Given the description of an element on the screen output the (x, y) to click on. 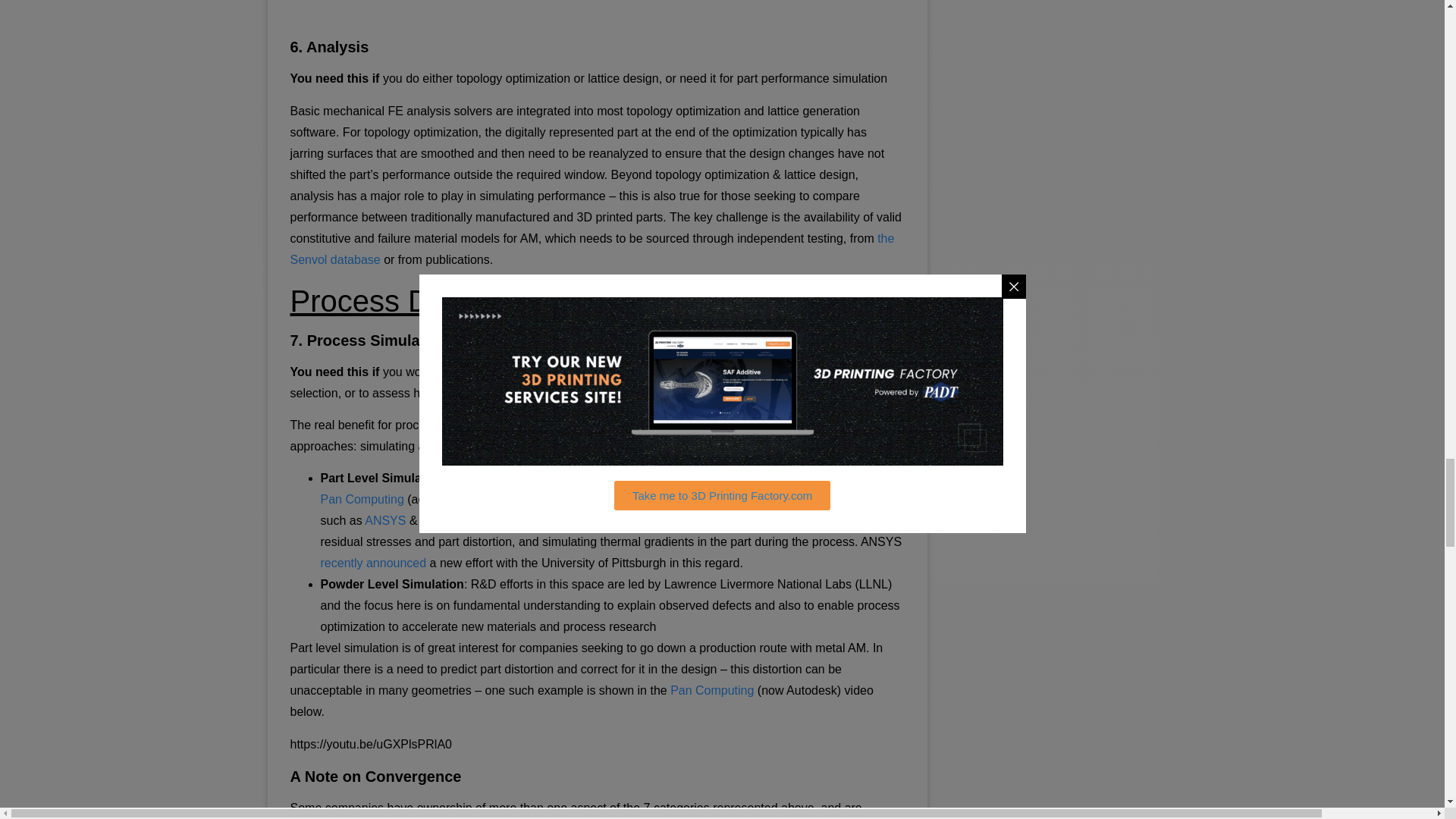
Autodesk Within Optimisation Demo (596, 10)
